Given the description of an element on the screen output the (x, y) to click on. 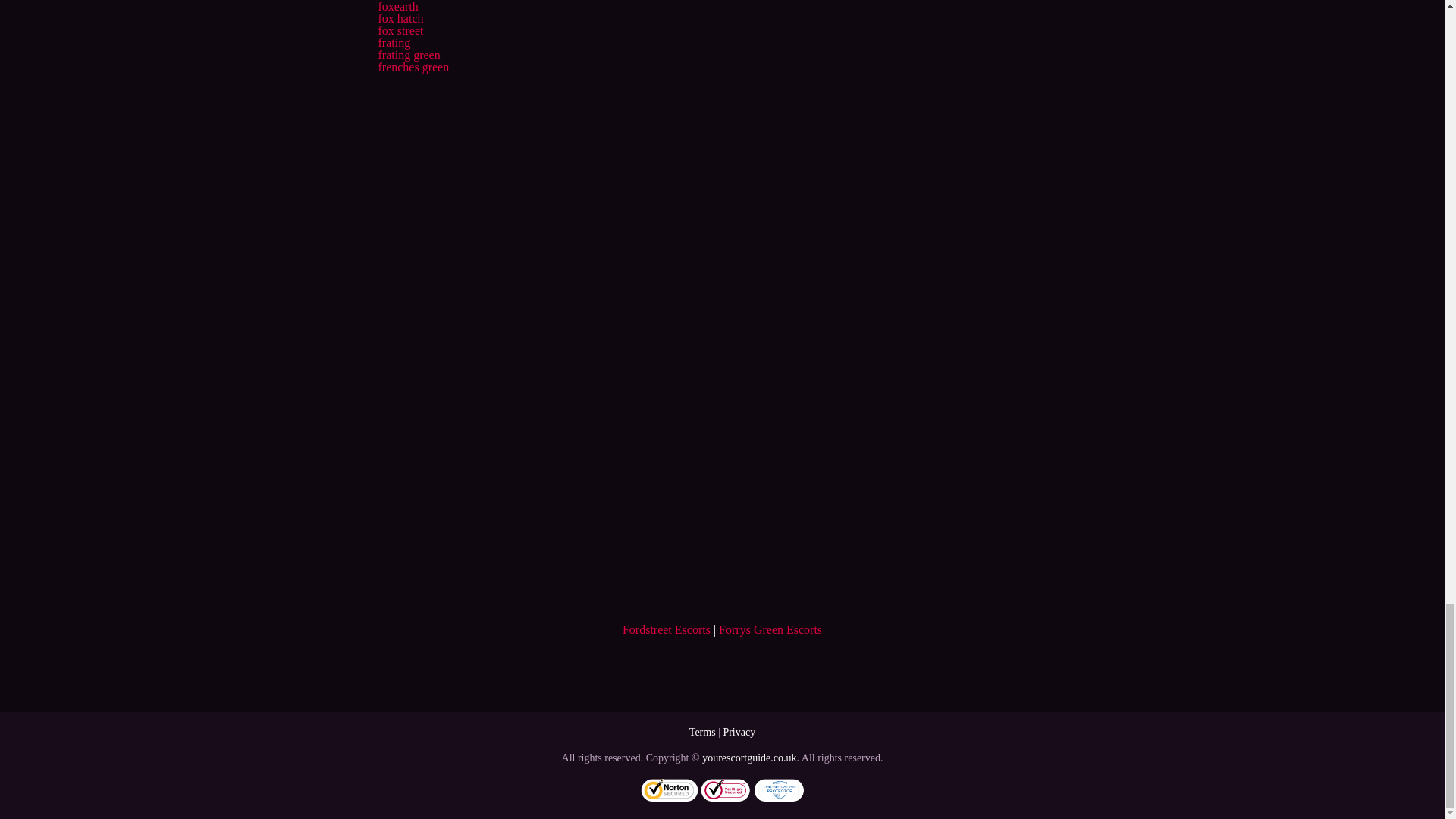
yourescortguide.co.uk (748, 757)
Terms (702, 731)
Terms (702, 731)
Fordstreet Escorts (666, 629)
frenches green (412, 66)
Privacy (738, 731)
fox hatch (400, 18)
fox street (400, 30)
foxearth (397, 6)
Forrys Green Escorts (770, 629)
